Given the description of an element on the screen output the (x, y) to click on. 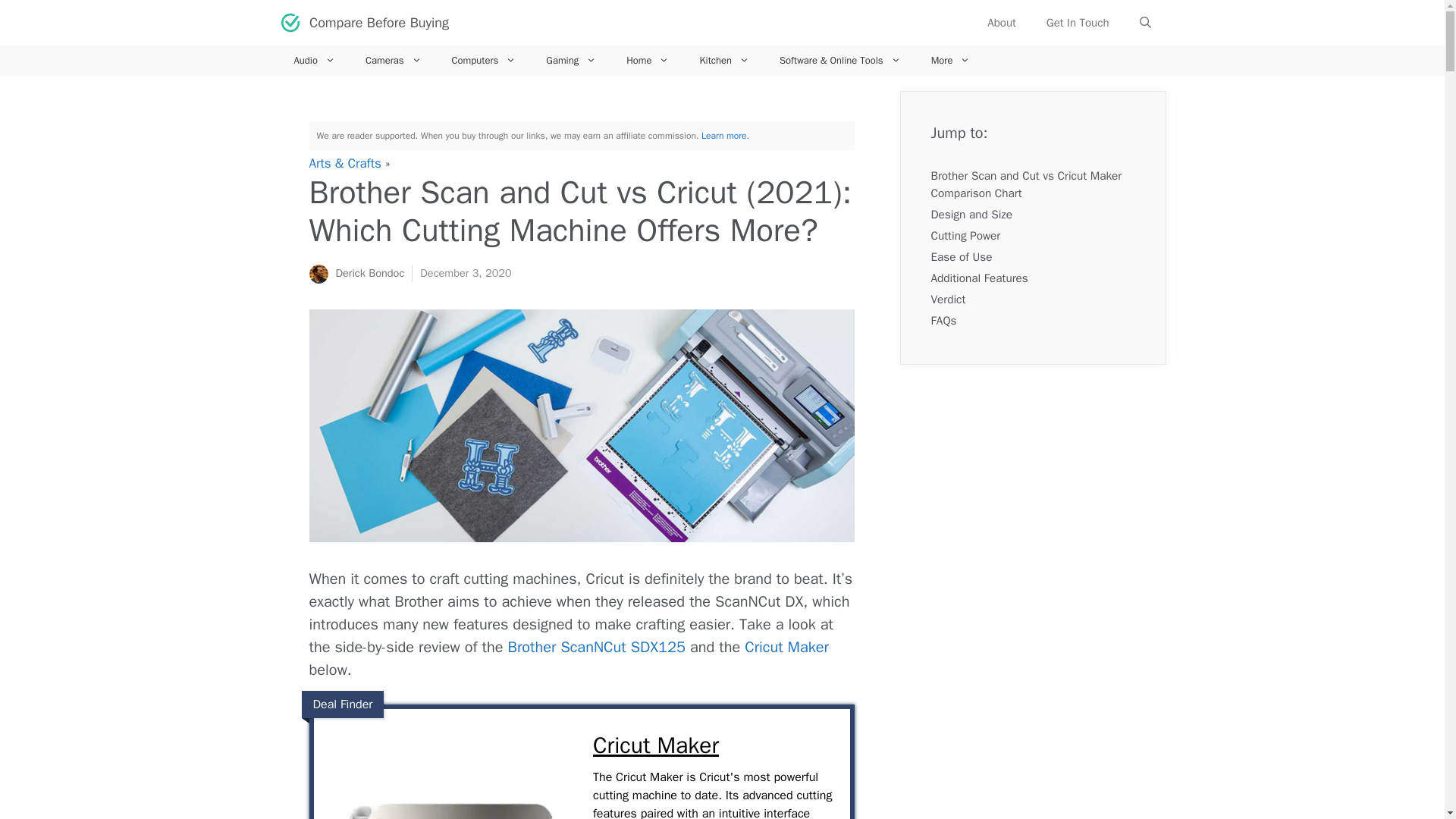
Audio (314, 60)
Get In Touch (1077, 22)
Compare Before Buying (378, 22)
Gaming (571, 60)
Computers (483, 60)
About (1001, 22)
Cricut Maker (713, 746)
Home (647, 60)
Kitchen (724, 60)
Cricut Maker (449, 771)
View all posts by Derick Bondoc (369, 273)
Cameras (393, 60)
